Given the description of an element on the screen output the (x, y) to click on. 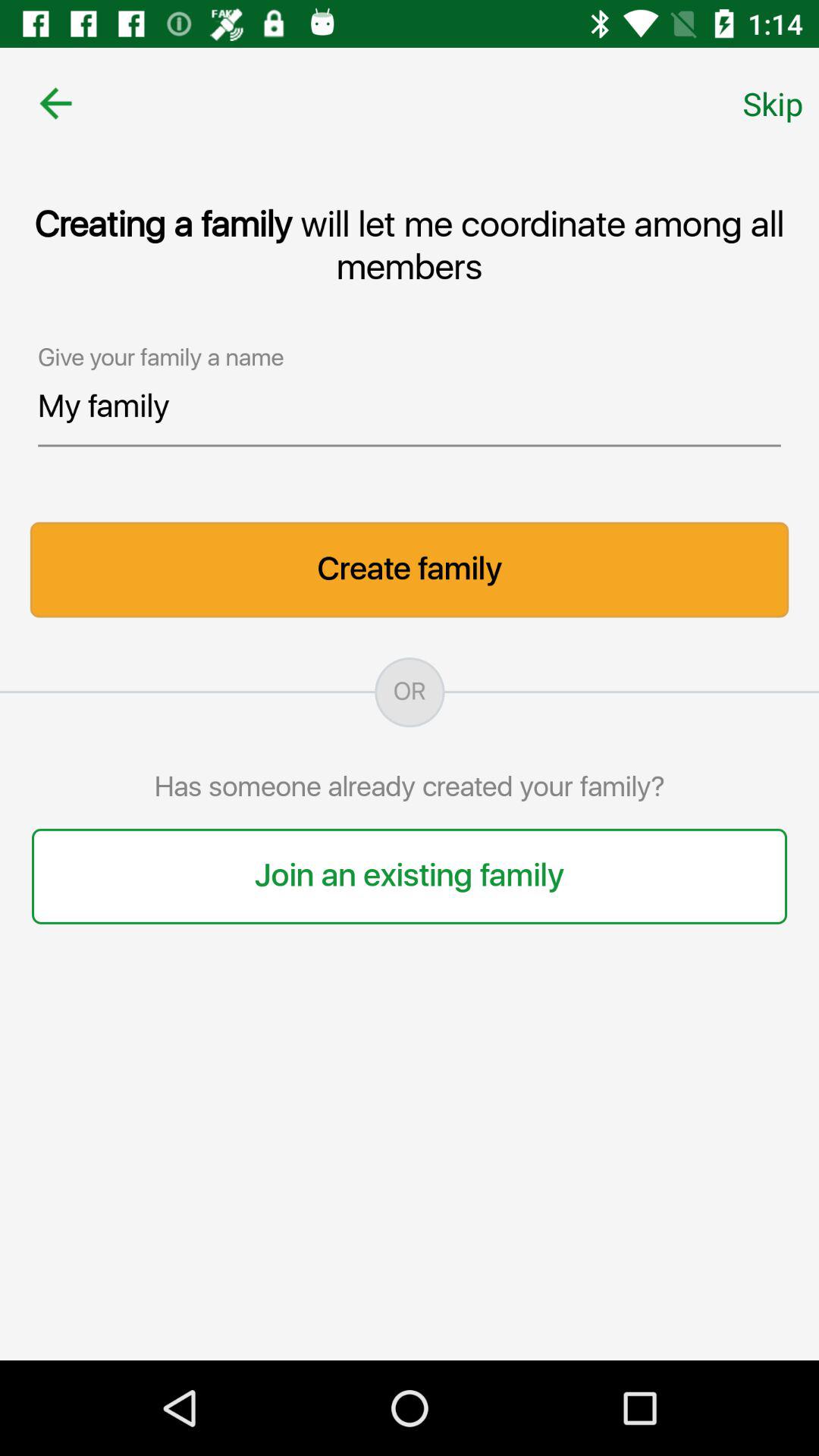
click the icon to the left of skip item (55, 103)
